Given the description of an element on the screen output the (x, y) to click on. 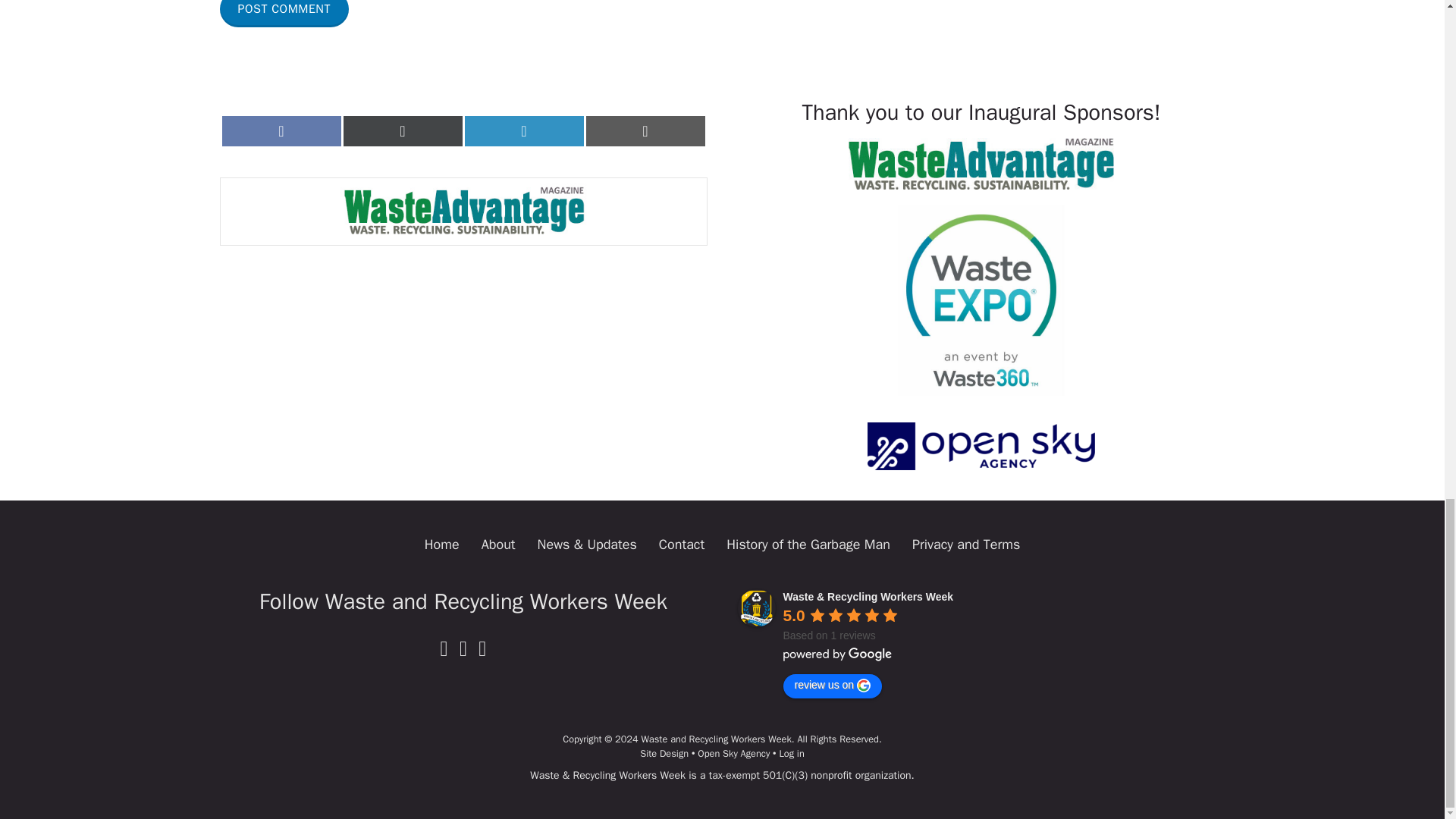
Post Comment (284, 13)
Share on LinkedIn (523, 131)
Post Comment (284, 13)
Share on Facebook (280, 131)
